Given the description of an element on the screen output the (x, y) to click on. 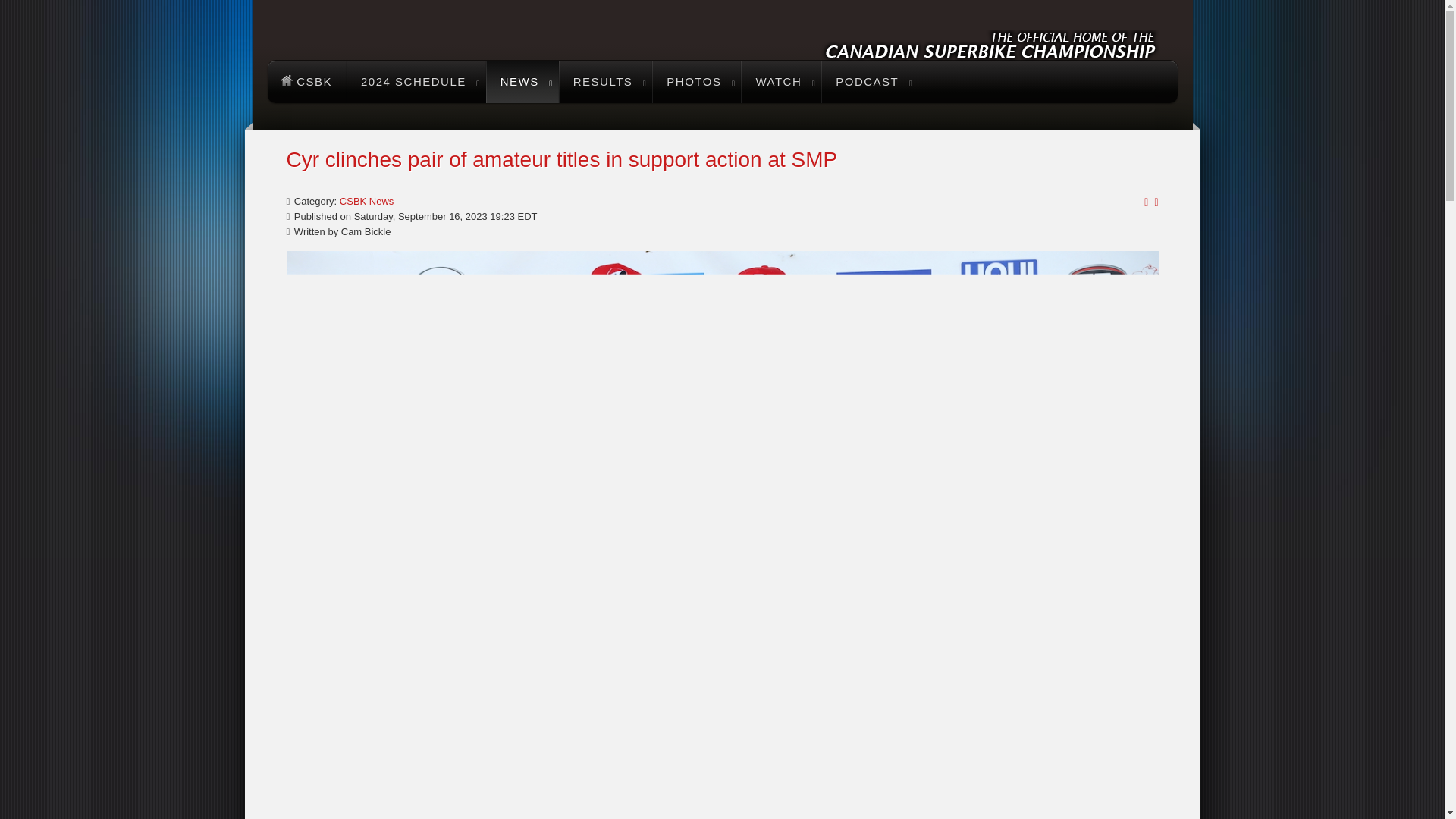
PODCAST (869, 81)
CSBK News (366, 201)
CSBK (306, 81)
2024 SCHEDULE (416, 81)
Cyr clinches pair of amateur titles in support action at SMP (562, 159)
WATCH (781, 81)
PHOTOS (696, 81)
RESULTS (605, 81)
NEWS (522, 81)
